Given the description of an element on the screen output the (x, y) to click on. 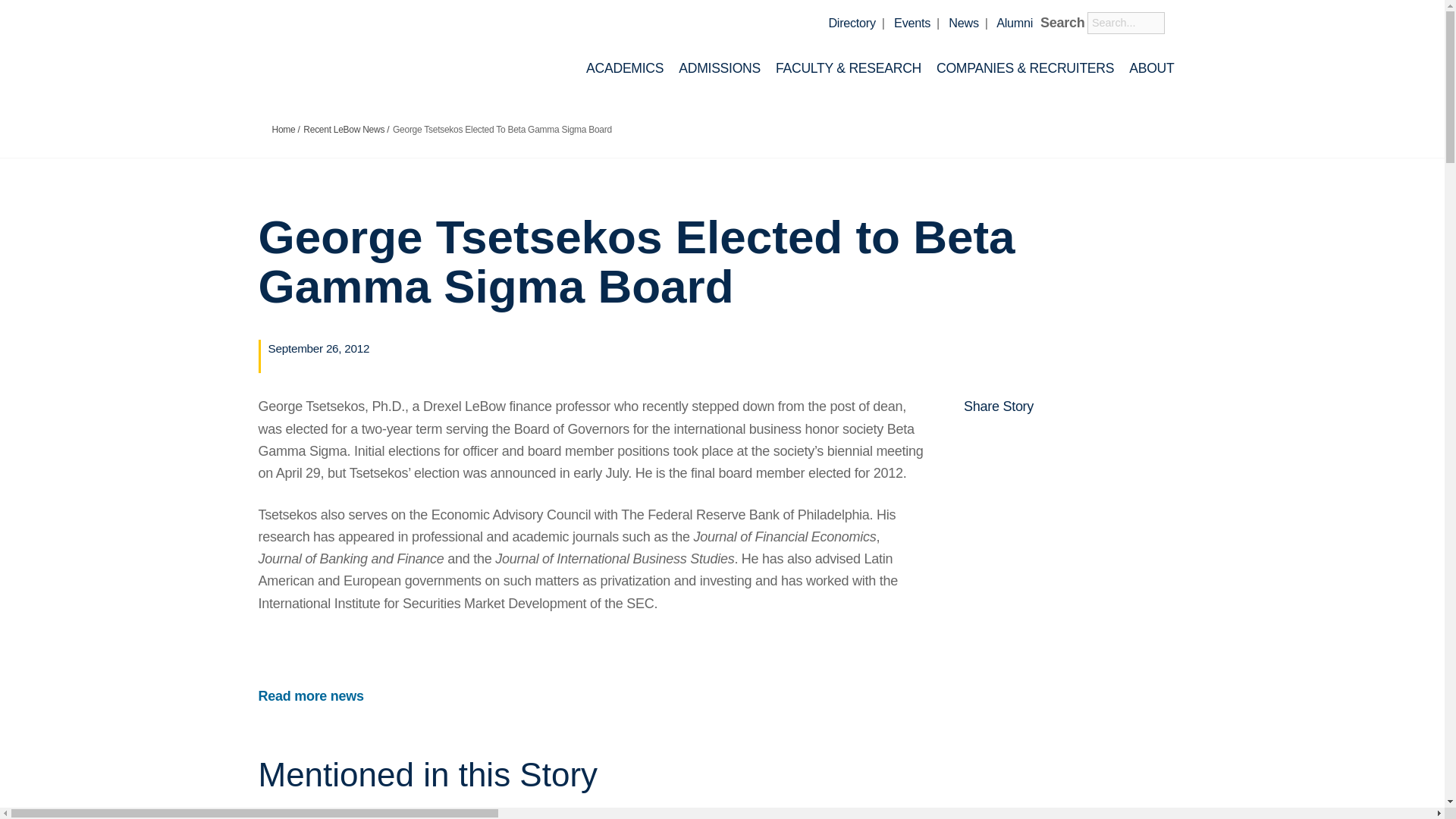
ACADEMICS (624, 67)
Alumni (1013, 22)
Events (911, 22)
News (963, 22)
Directory (851, 22)
ADMISSIONS (719, 67)
Upcoming events at LeBow College of Business (911, 22)
LeBow College of Business (382, 51)
LeBow College of Business (382, 54)
Admissions information for all of our programs (719, 67)
ABOUT (1151, 67)
LeBow News (963, 22)
